Given the description of an element on the screen output the (x, y) to click on. 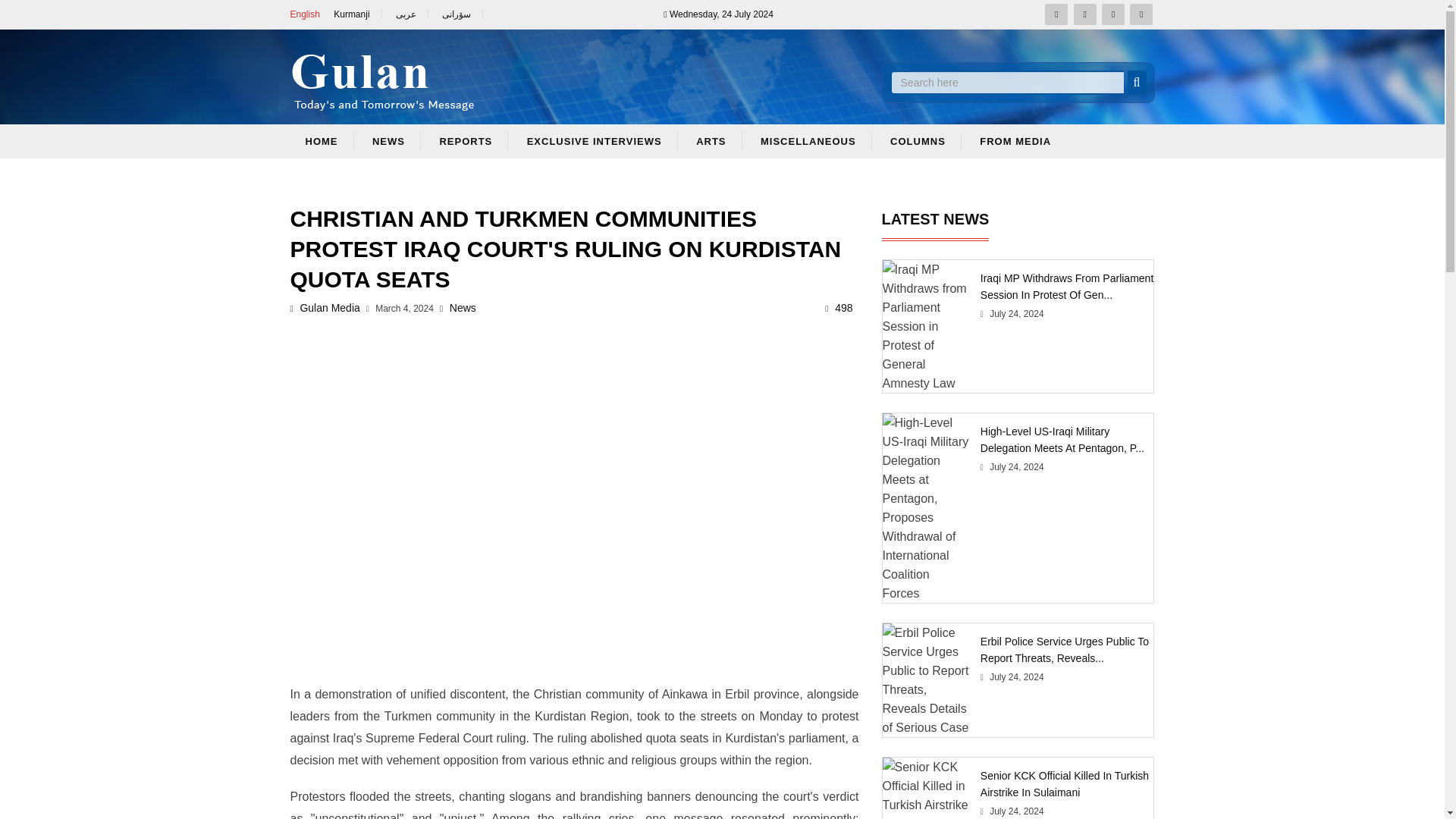
ARTS (711, 140)
REPORTS (465, 140)
498 (838, 307)
NEWS (388, 140)
HOME (321, 140)
EXCLUSIVE INTERVIEWS (595, 140)
Kurmanji (357, 14)
English (303, 14)
COLUMNS (917, 140)
FROM MEDIA (1014, 140)
MISCELLANEOUS (808, 140)
News (457, 307)
Gulan Media (324, 307)
